Given the description of an element on the screen output the (x, y) to click on. 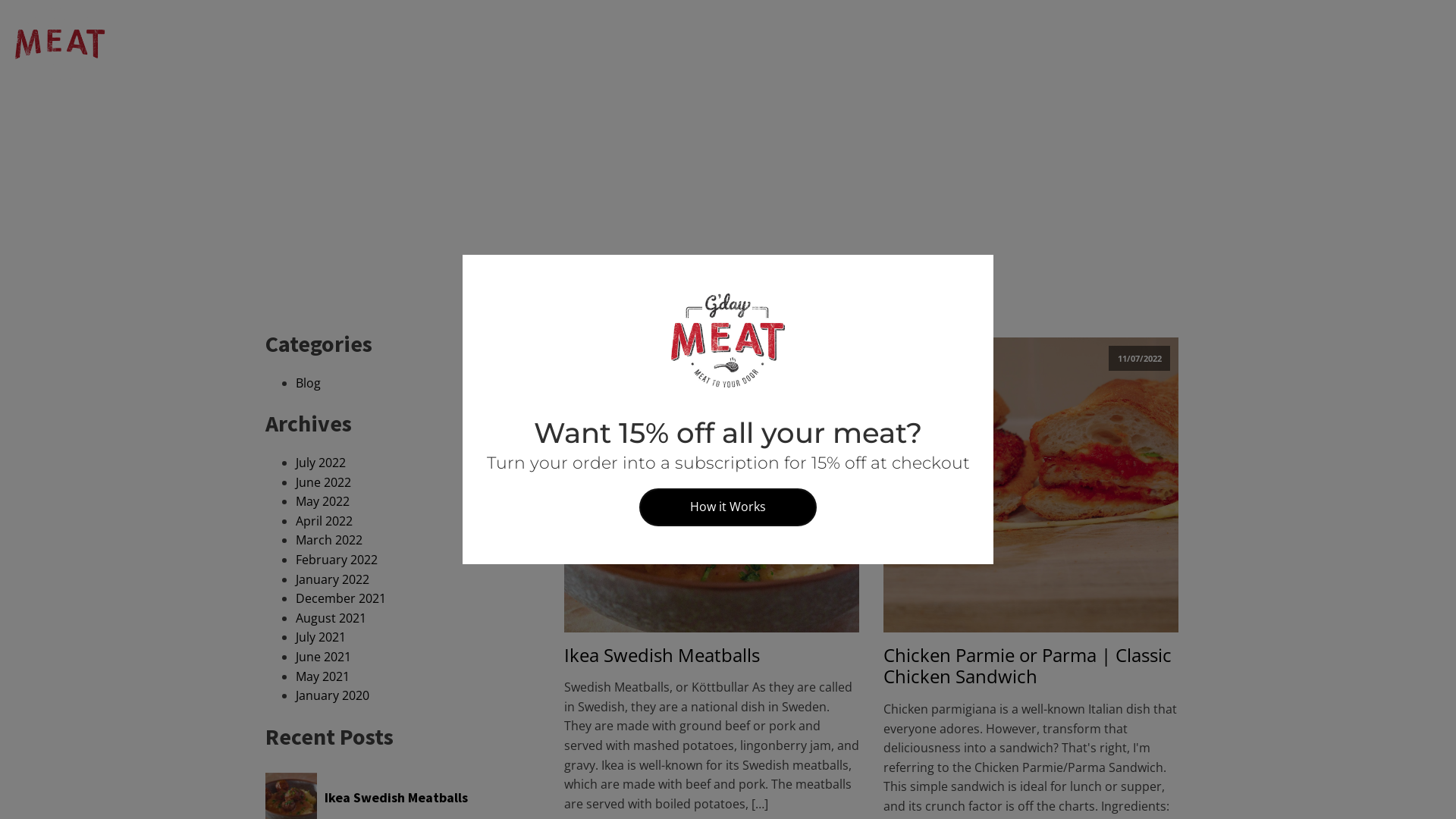
January 2020 Element type: text (332, 695)
May 2022 Element type: text (322, 500)
Ikea Swedish Meatballs Element type: text (661, 655)
May 2021 Element type: text (322, 676)
June 2021 Element type: text (323, 656)
19/07/2022 Element type: text (711, 483)
July 2021 Element type: text (320, 636)
Seafood Element type: text (1094, 43)
January 2022 Element type: text (332, 579)
Ikea Swedish Meatballs Element type: text (418, 798)
August 2021 Element type: text (330, 617)
How it Works  Element type: text (289, 42)
Cellar Element type: text (1261, 43)
Beef Element type: text (1148, 43)
G'Day Boxes Element type: text (929, 43)
February 2022 Element type: text (336, 559)
How it Works Element type: text (727, 507)
Wagyu Beef Element type: text (1018, 43)
December 2021 Element type: text (340, 597)
March 2022 Element type: text (328, 539)
June 2022 Element type: text (323, 481)
Chicken Parmie or Parma | Classic Chicken Sandwich Element type: text (1030, 666)
Recipe Blog Element type: text (385, 42)
July 2022 Element type: text (320, 462)
Chicken Element type: text (1203, 43)
11/07/2022 Element type: text (1030, 483)
Blog Element type: text (307, 382)
April 2022 Element type: text (323, 520)
How we Pack Element type: text (169, 42)
